Given the description of an element on the screen output the (x, y) to click on. 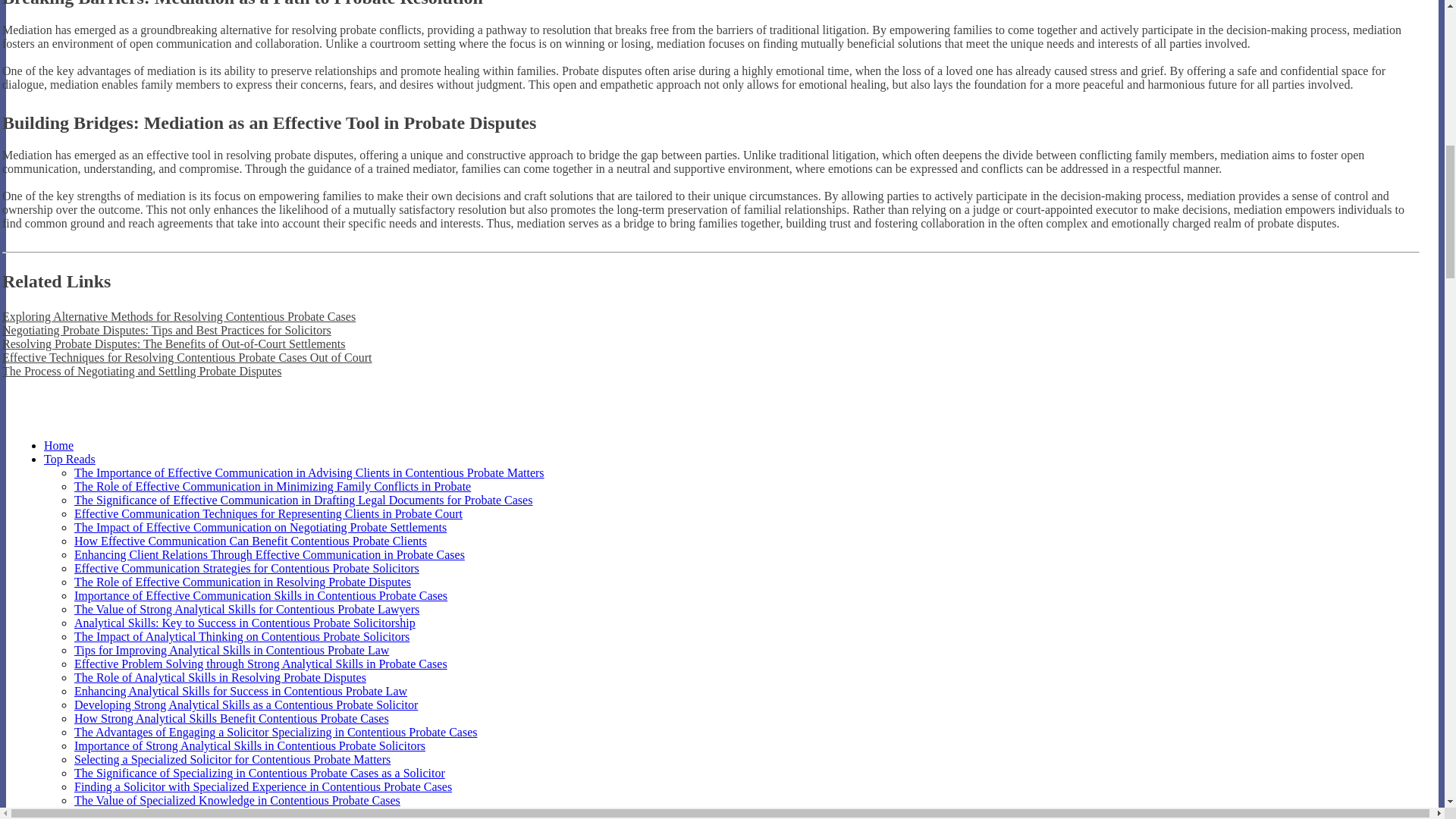
The Process of Negotiating and Settling Probate Disputes (141, 370)
The Role of Analytical Skills in Resolving Probate Disputes (220, 676)
Home (58, 445)
Top Reads (69, 459)
